Given the description of an element on the screen output the (x, y) to click on. 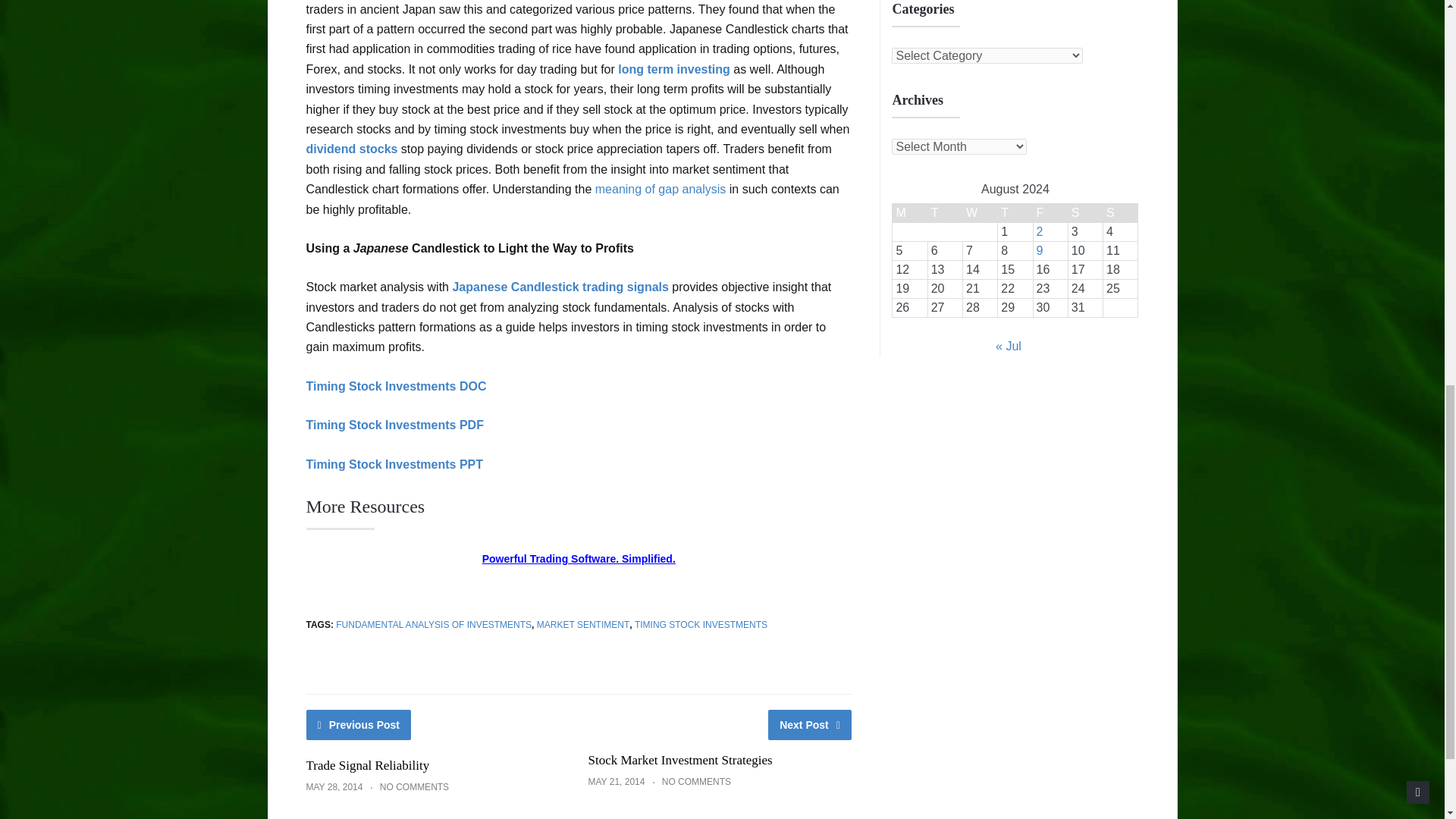
Powerful Trading Software. Simplified. (578, 558)
Monday (909, 212)
Next Post (809, 725)
Tuesday (944, 212)
Saturday (1084, 212)
TIMING STOCK INVESTMENTS (700, 624)
MARKET SENTIMENT (582, 624)
meaning of gap analysis (660, 188)
dividend stocks (351, 148)
Wednesday (979, 212)
